Given the description of an element on the screen output the (x, y) to click on. 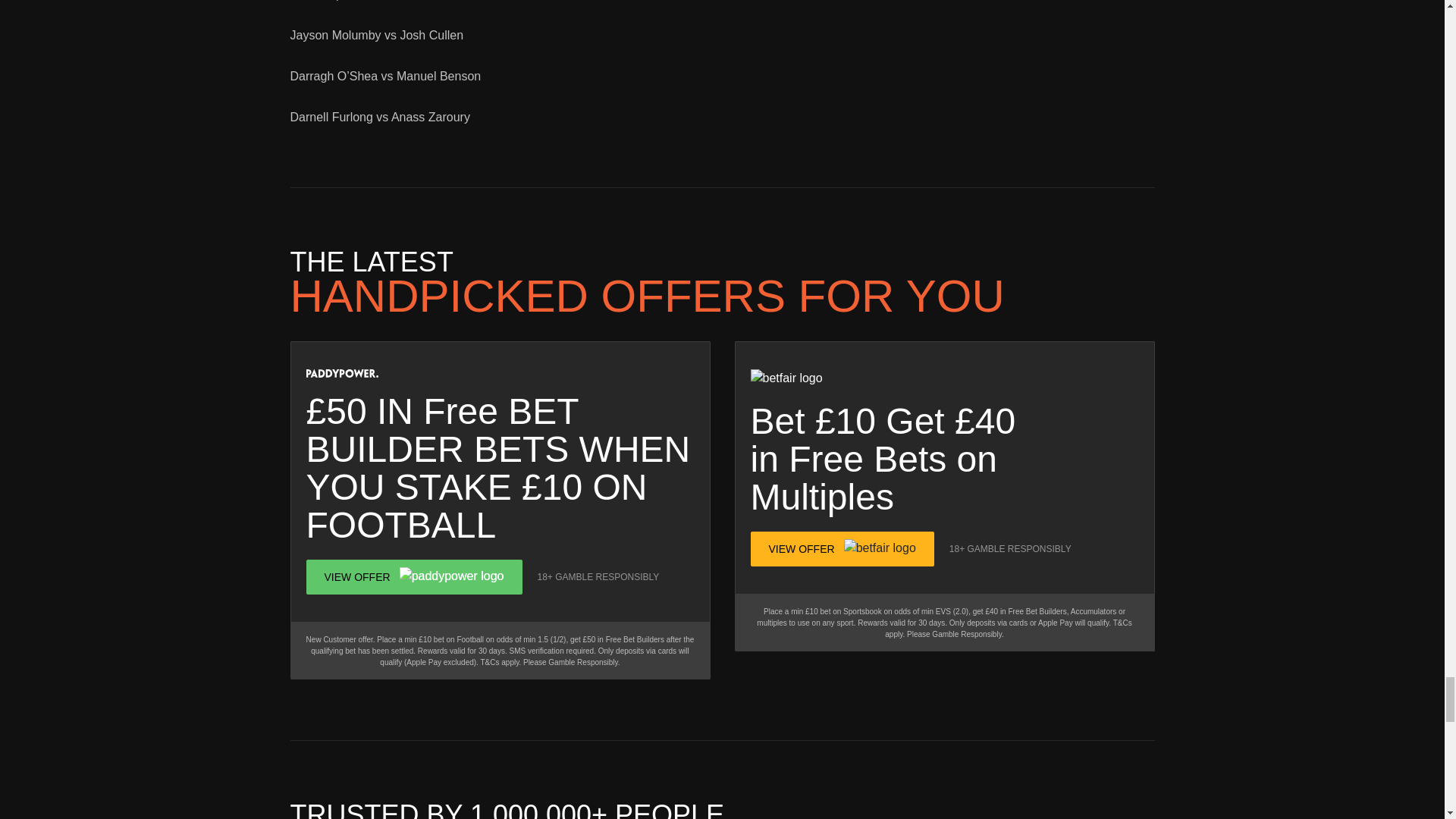
VIEW OFFER (842, 548)
VIEW OFFER (413, 576)
Free Bets (867, 458)
